Given the description of an element on the screen output the (x, y) to click on. 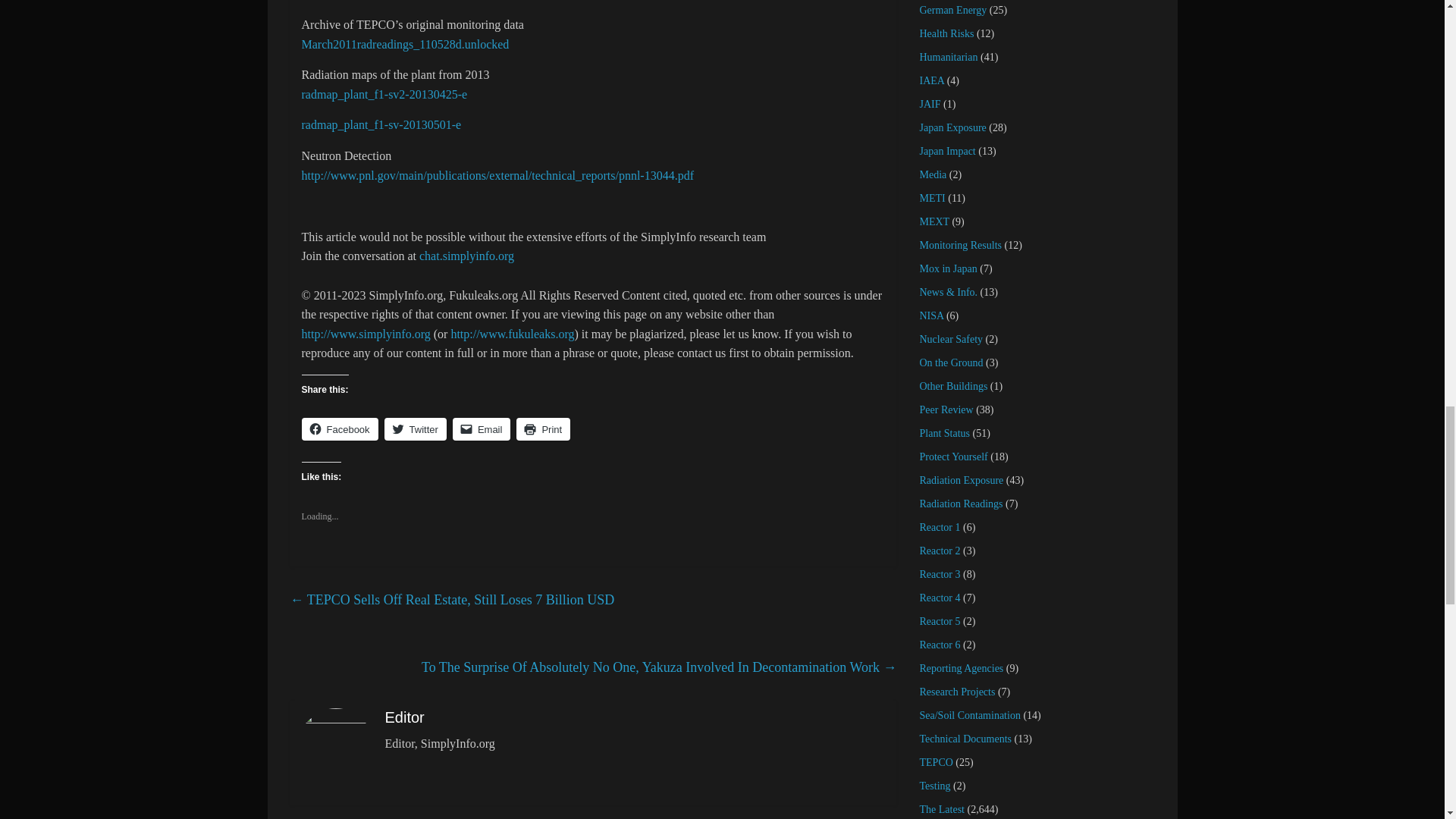
Click to email a link to a friend (481, 428)
Click to share on Facebook (339, 428)
Click to print (543, 428)
Click to share on Twitter (415, 428)
